Given the description of an element on the screen output the (x, y) to click on. 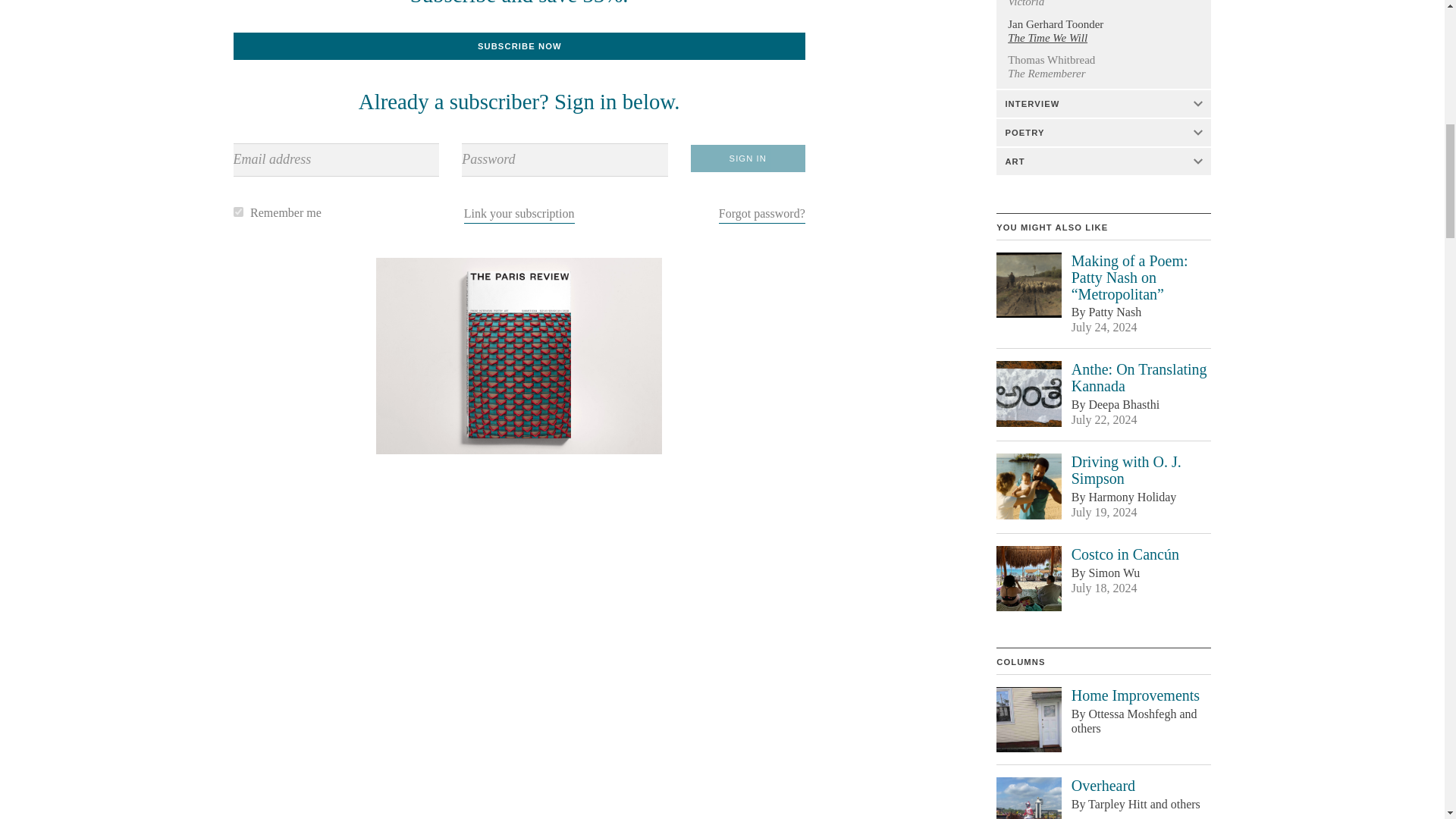
remember (237, 212)
Sign In (747, 157)
